Given the description of an element on the screen output the (x, y) to click on. 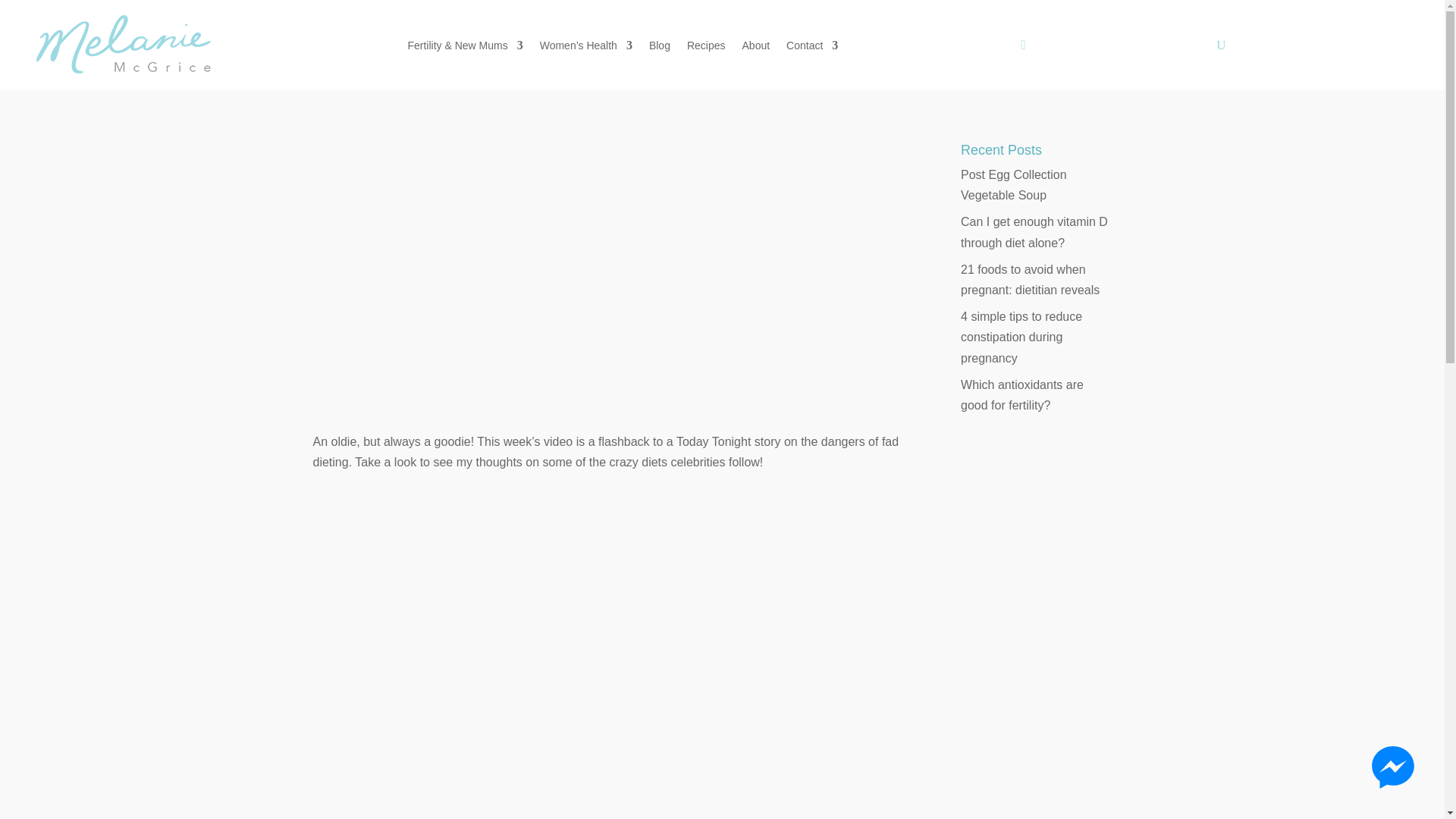
Which antioxidants are good for fertility? (1021, 394)
Post Egg Collection Vegetable Soup (1013, 184)
4 simple tips to reduce constipation during pregnancy (1020, 336)
21 foods to avoid when pregnant: dietitian reveals (1029, 279)
Can I get enough vitamin D through diet alone? (1034, 231)
